Given the description of an element on the screen output the (x, y) to click on. 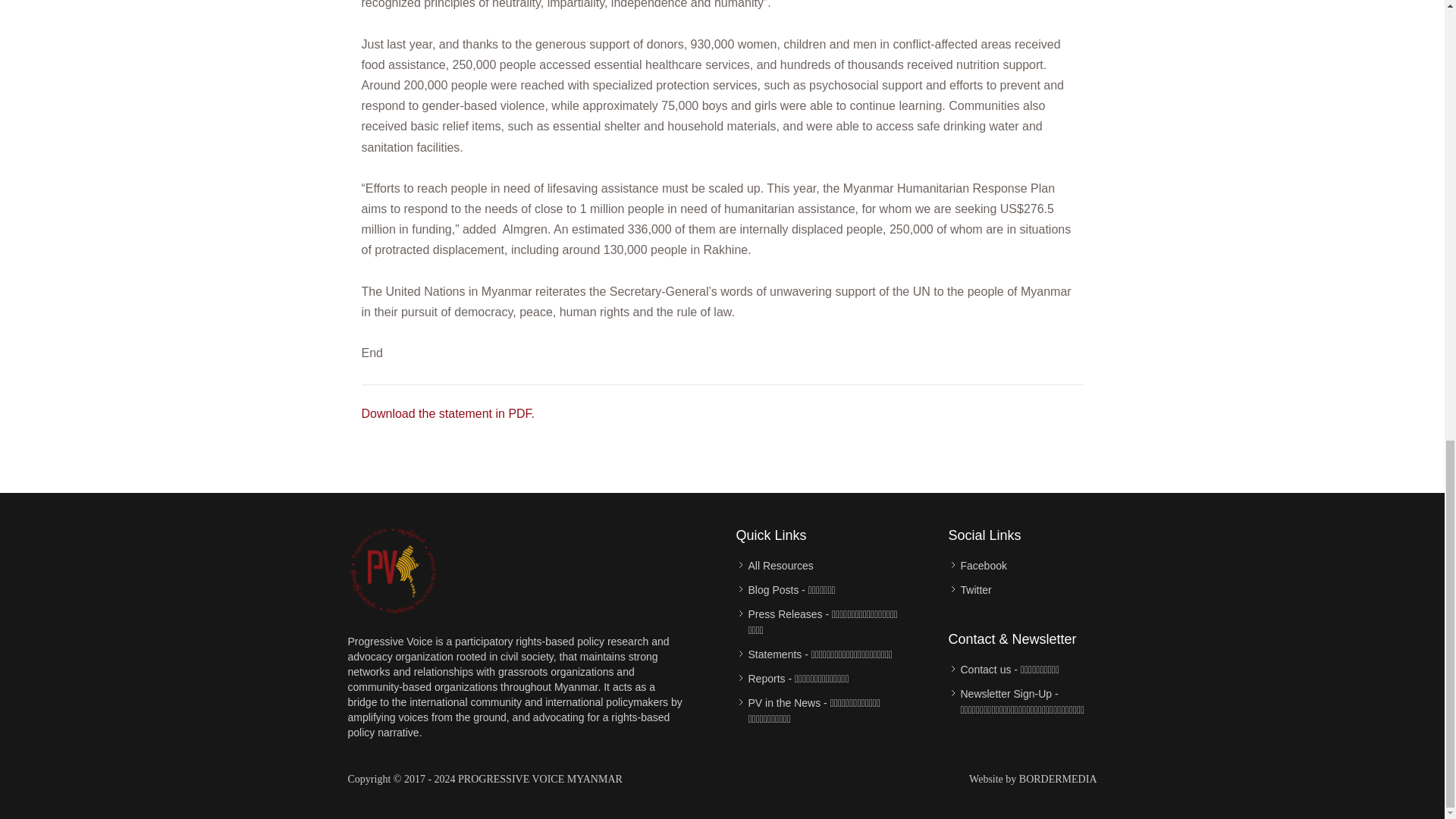
Download the statement in PDF. (447, 413)
Progressive Voice Myanmar - Home page (392, 569)
All Resources (780, 565)
